Given the description of an element on the screen output the (x, y) to click on. 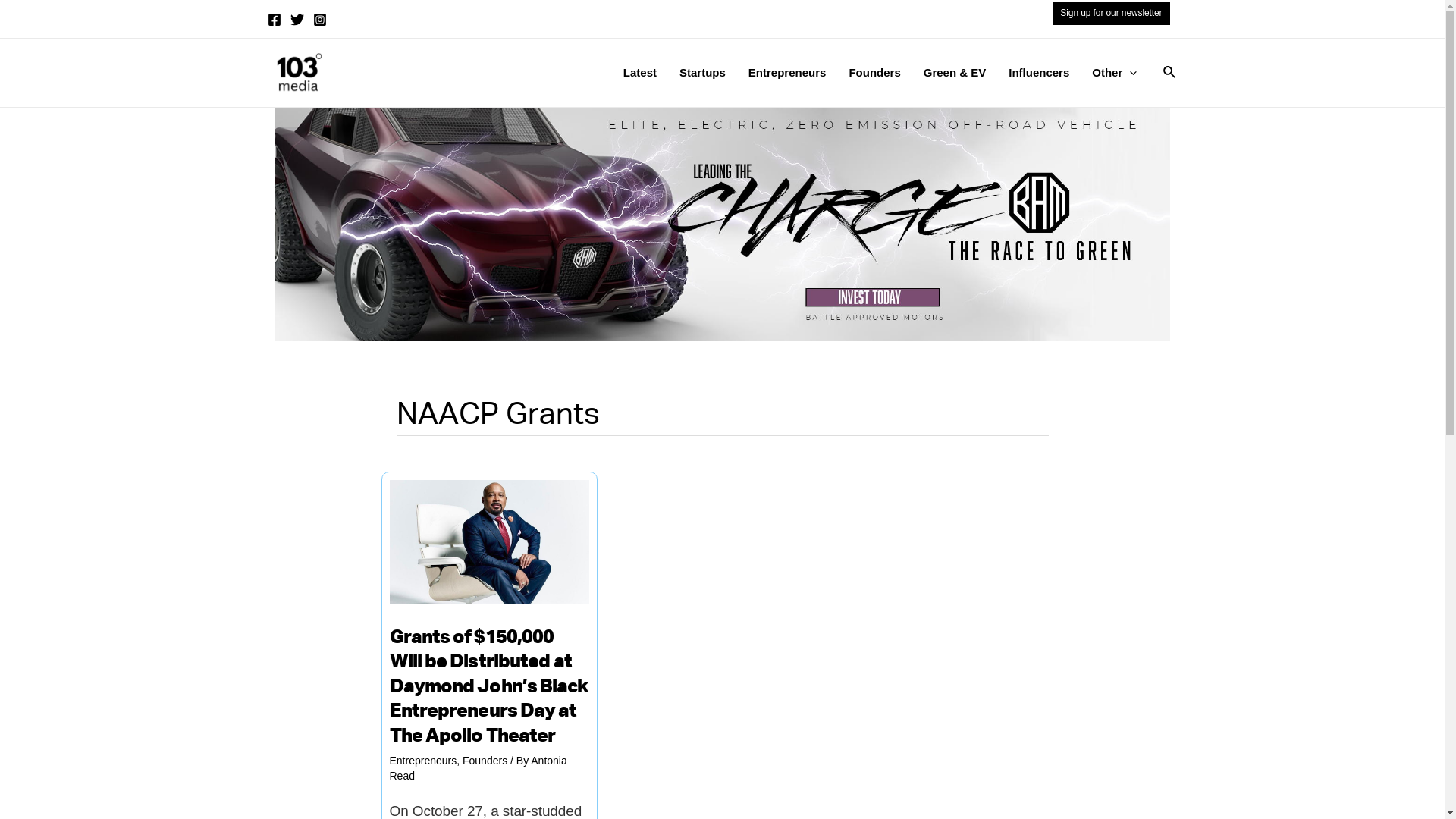
Sign up for our newsletter Element type: text (1110, 12)
Startups Element type: text (702, 72)
Green & EV Element type: text (954, 72)
Entrepreneurs Element type: text (423, 760)
Entrepreneurs Element type: text (787, 72)
Founders Element type: text (874, 72)
Antonia Read Element type: text (478, 767)
Founders Element type: text (484, 760)
Search Element type: text (1169, 72)
Influencers Element type: text (1038, 72)
Other Element type: text (1114, 72)
Latest Element type: text (639, 72)
